Given the description of an element on the screen output the (x, y) to click on. 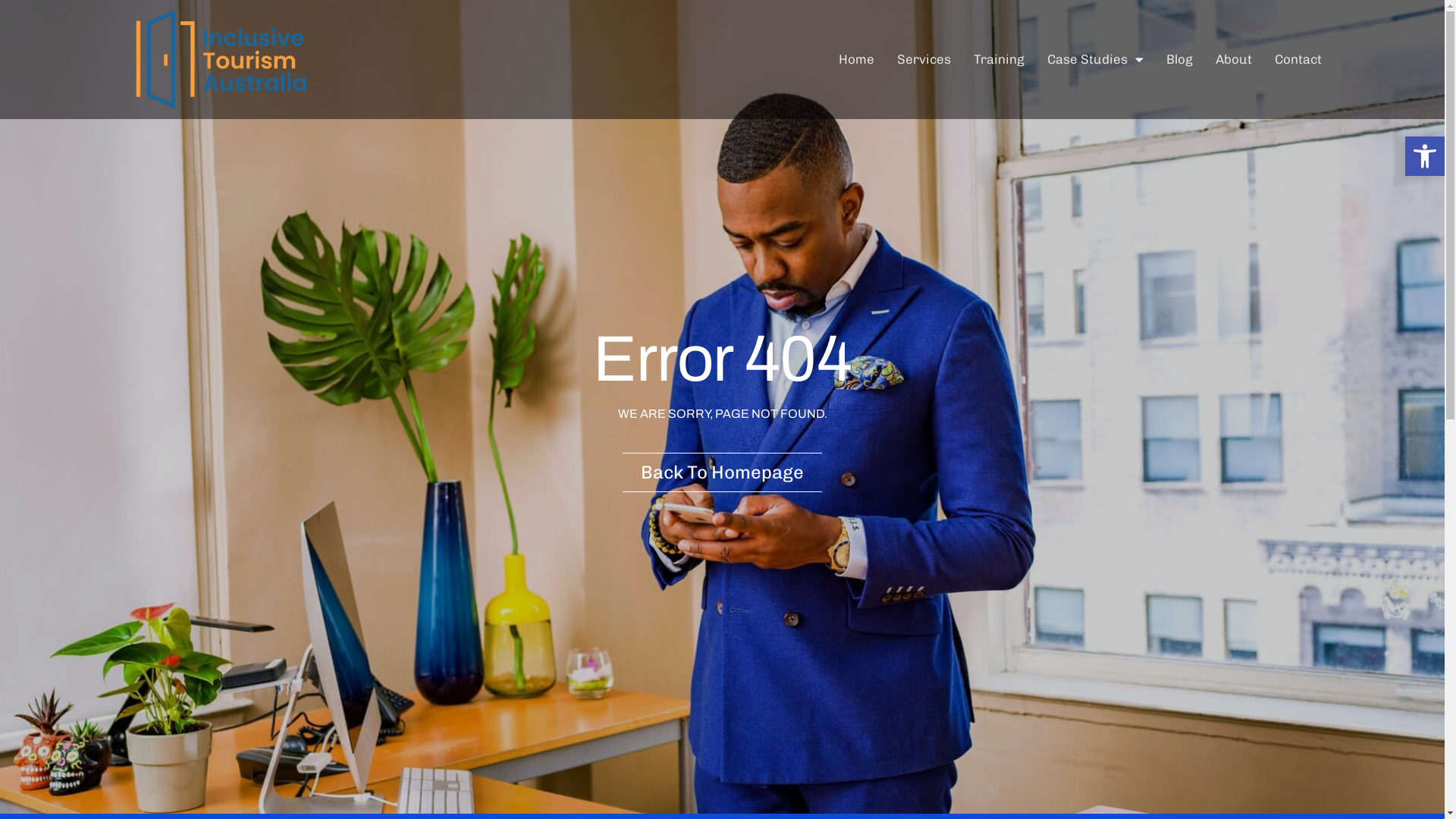
Training Element type: text (998, 58)
Home Element type: text (856, 58)
Blog Element type: text (1179, 58)
Back To Homepage Element type: text (722, 472)
Services Element type: text (923, 58)
Open toolbar
Accessibility Tools Element type: text (1424, 155)
Case Studies Element type: text (1094, 58)
Contact Element type: text (1297, 58)
About Element type: text (1232, 58)
